Given the description of an element on the screen output the (x, y) to click on. 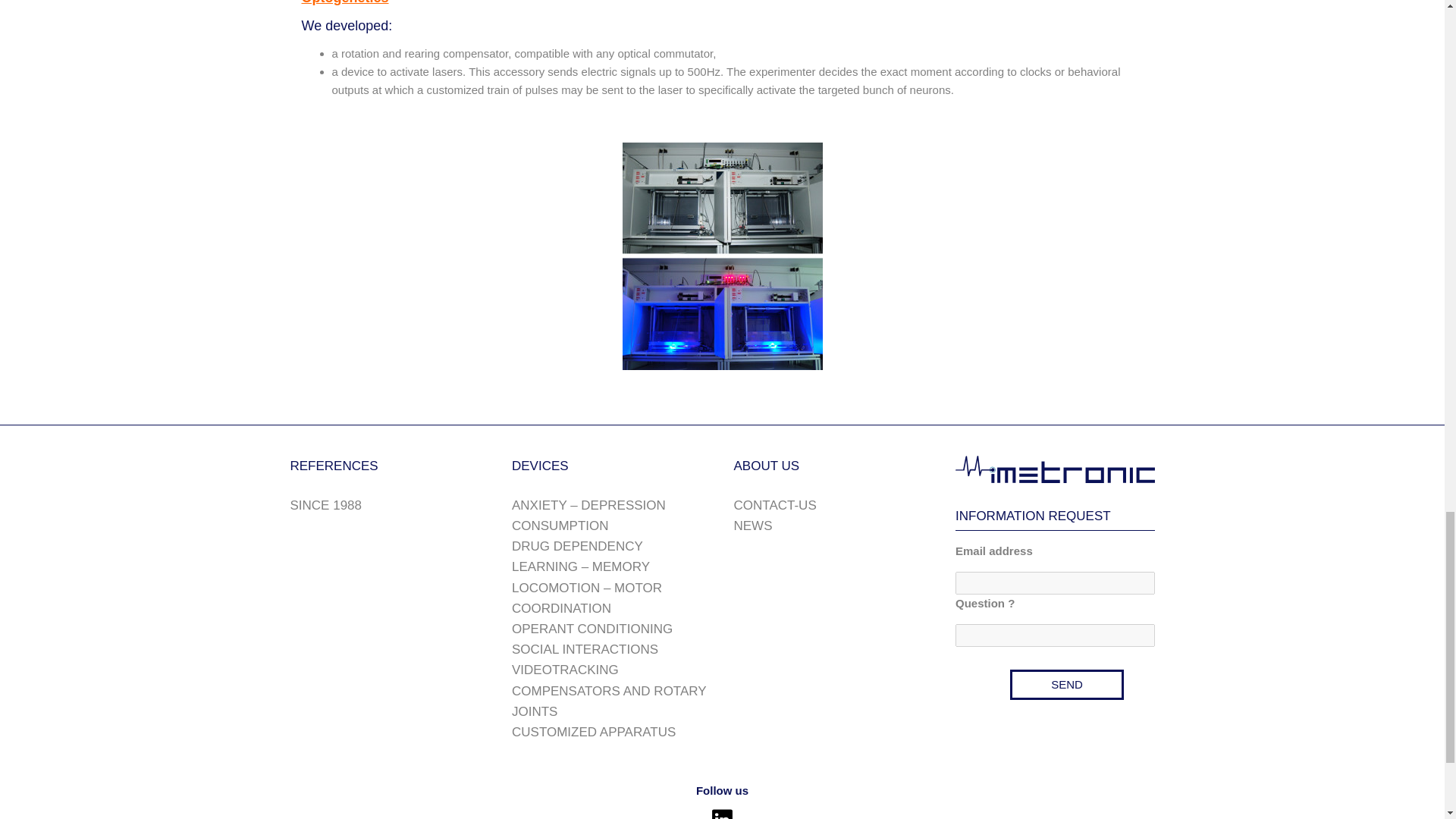
Optogenetics (344, 2)
Send (1067, 684)
REFERENCES (333, 465)
SINCE 1988 (325, 504)
DEVICES (540, 465)
